Given the description of an element on the screen output the (x, y) to click on. 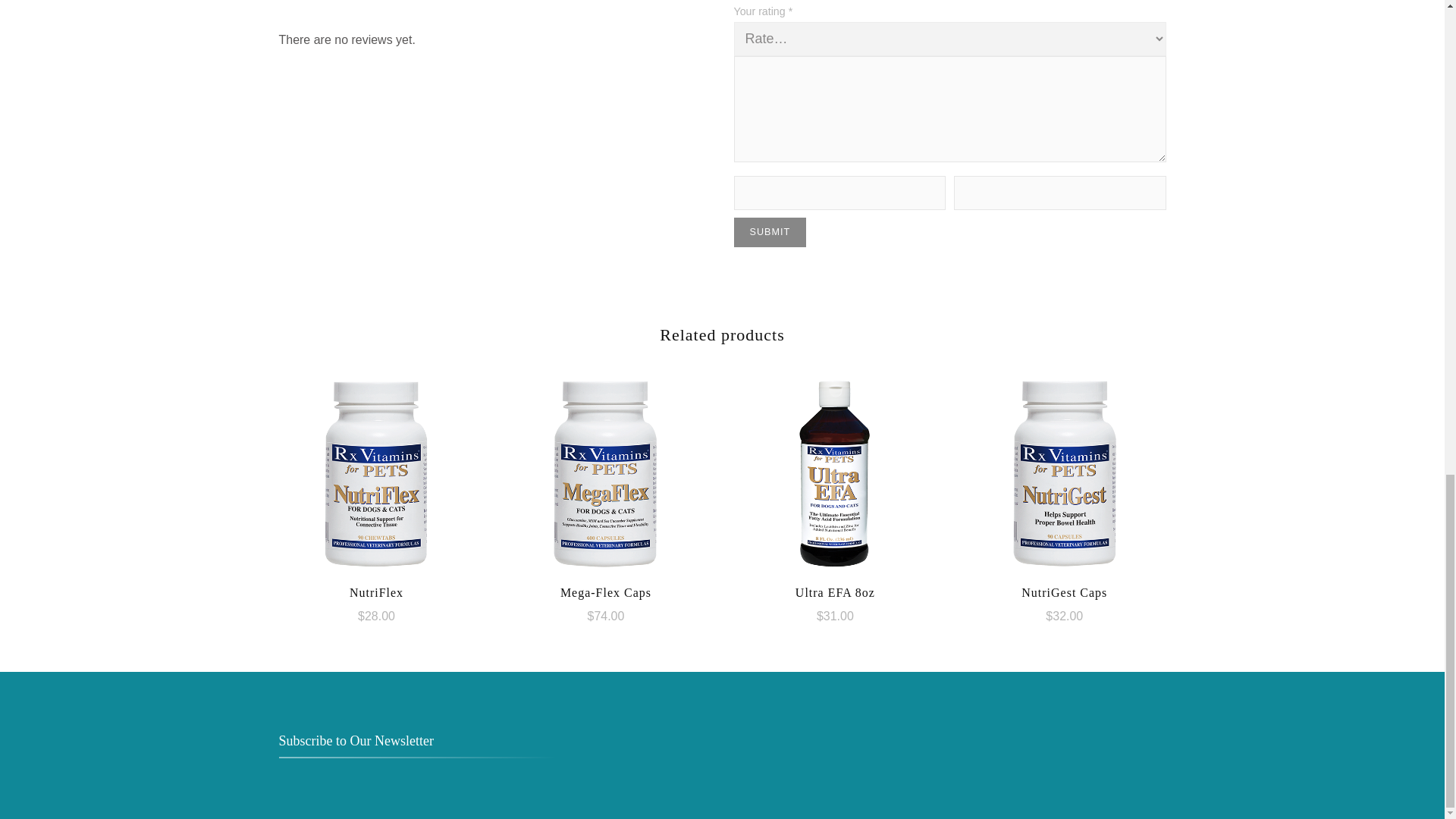
Submit (769, 232)
Submit (769, 232)
